Given the description of an element on the screen output the (x, y) to click on. 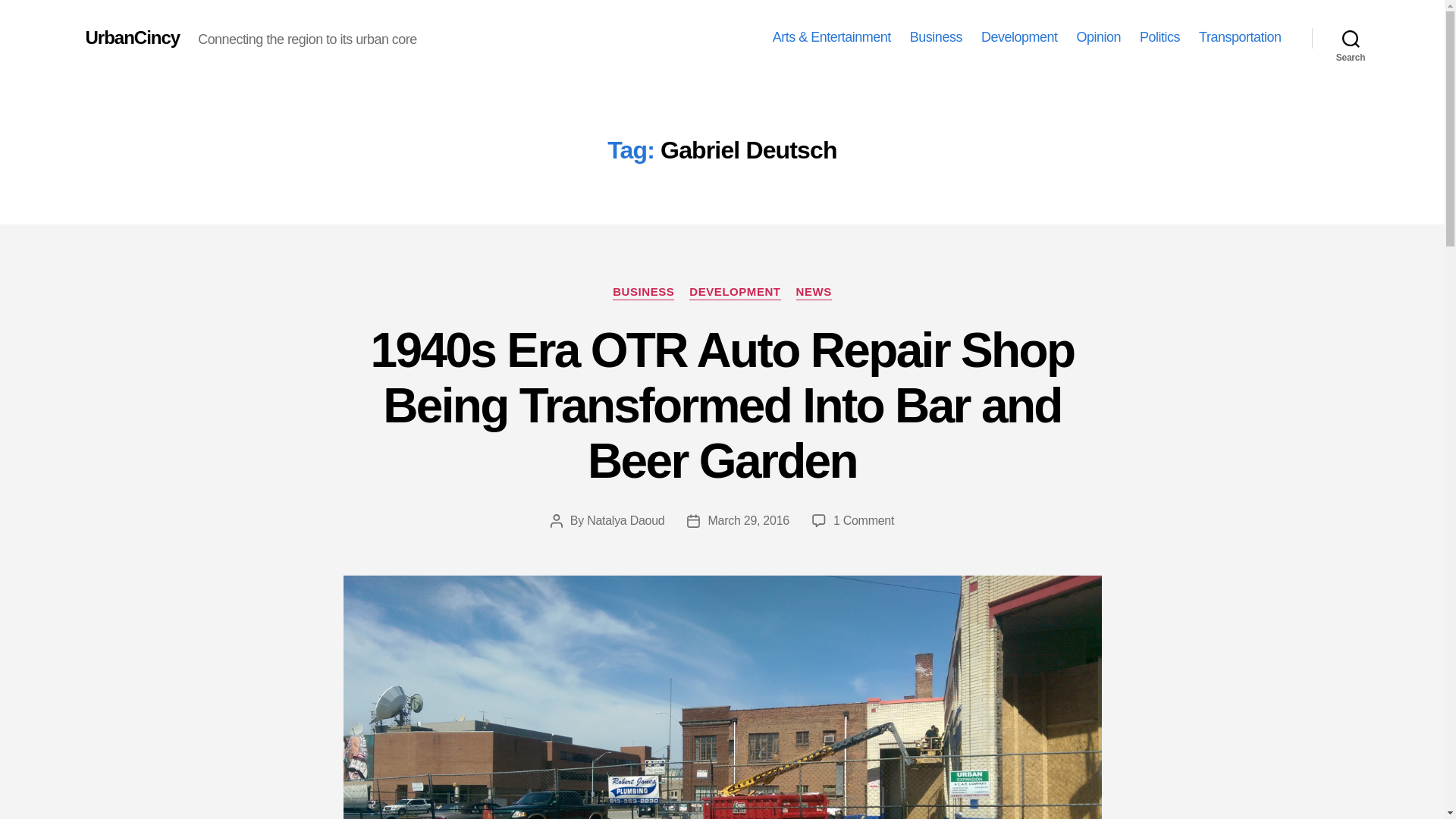
UrbanCincy (131, 37)
NEWS (813, 292)
Business (936, 37)
March 29, 2016 (748, 520)
Search (1350, 37)
Transportation (1239, 37)
Politics (1159, 37)
Opinion (1098, 37)
